Given the description of an element on the screen output the (x, y) to click on. 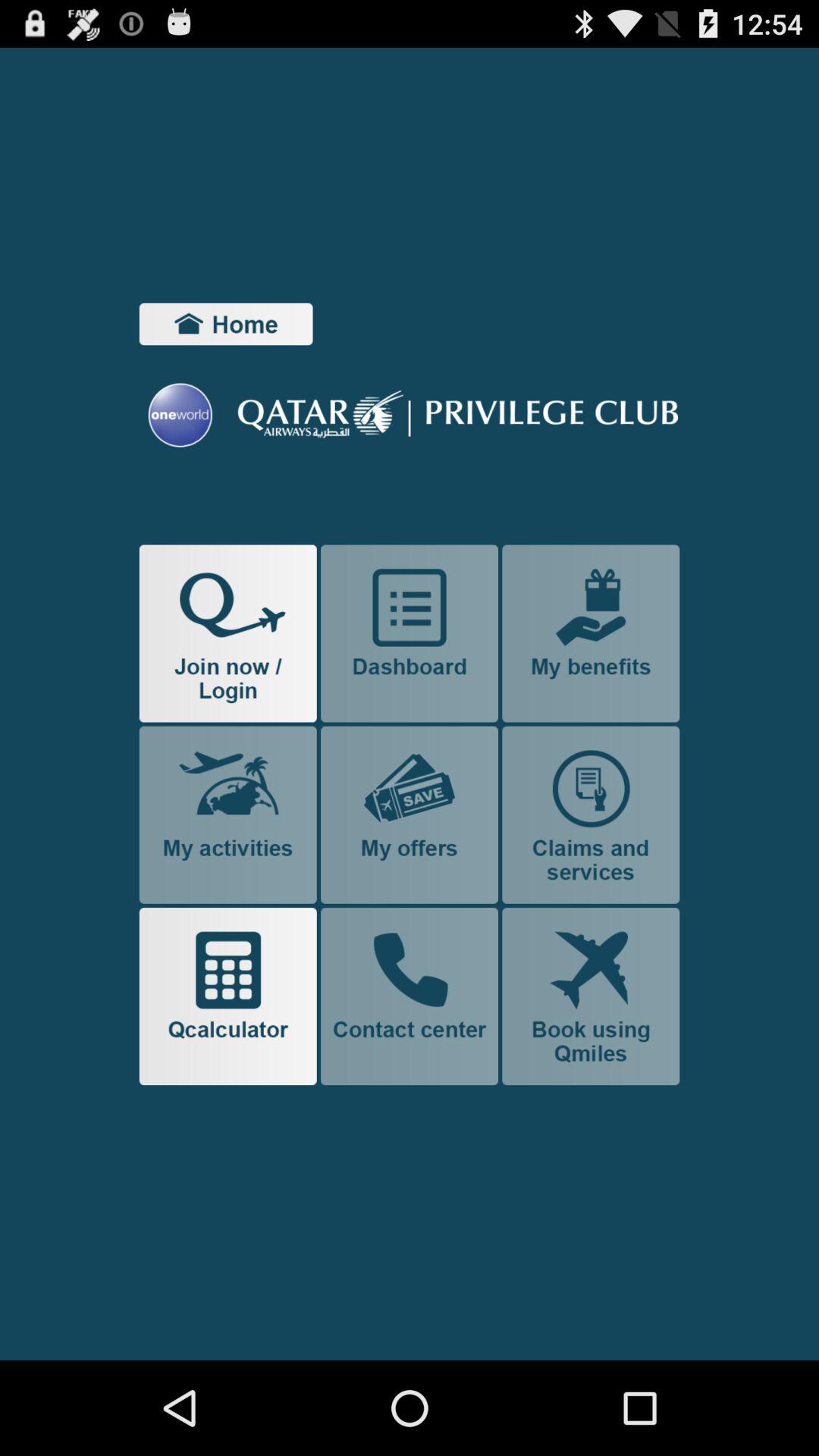
go to claims and services page (590, 814)
